Given the description of an element on the screen output the (x, y) to click on. 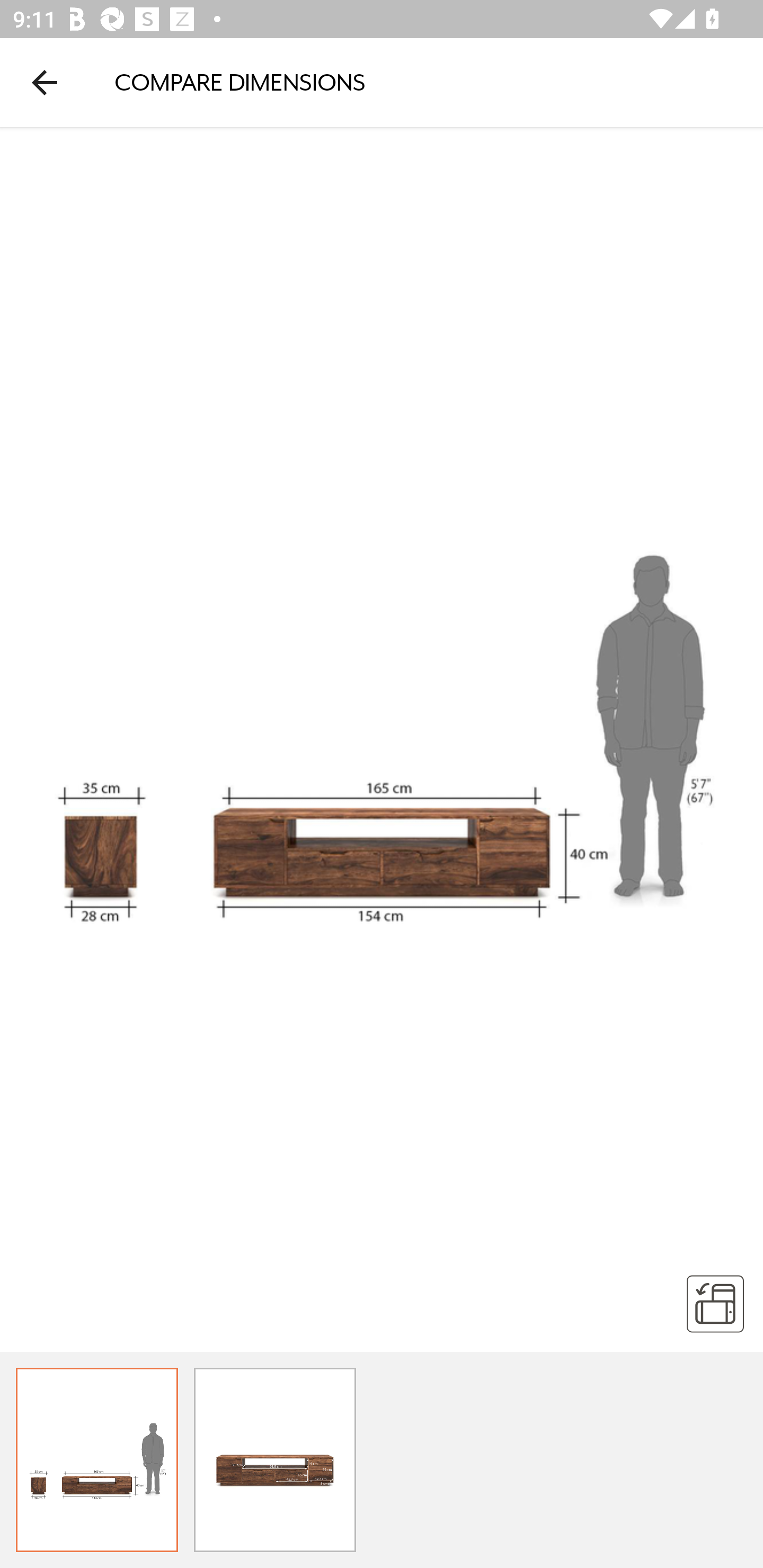
Navigate up (44, 82)
 (715, 1302)
